Given the description of an element on the screen output the (x, y) to click on. 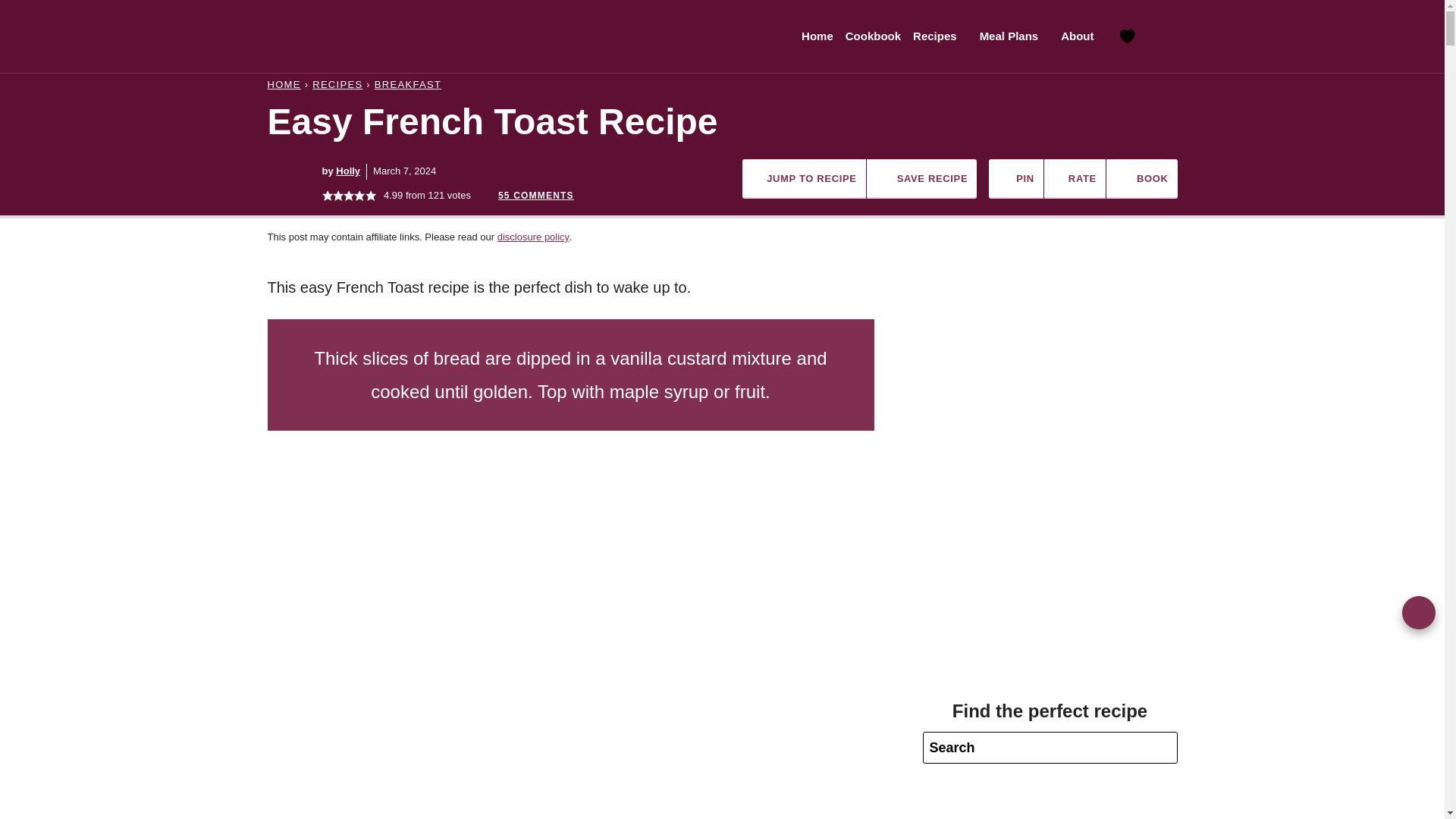
Recipes (940, 35)
Share on Pinterest (1015, 178)
About (1081, 35)
Share on Pinterest (1418, 612)
Home (817, 35)
Meal Plans (1014, 35)
Cookbook (873, 35)
